Given the description of an element on the screen output the (x, y) to click on. 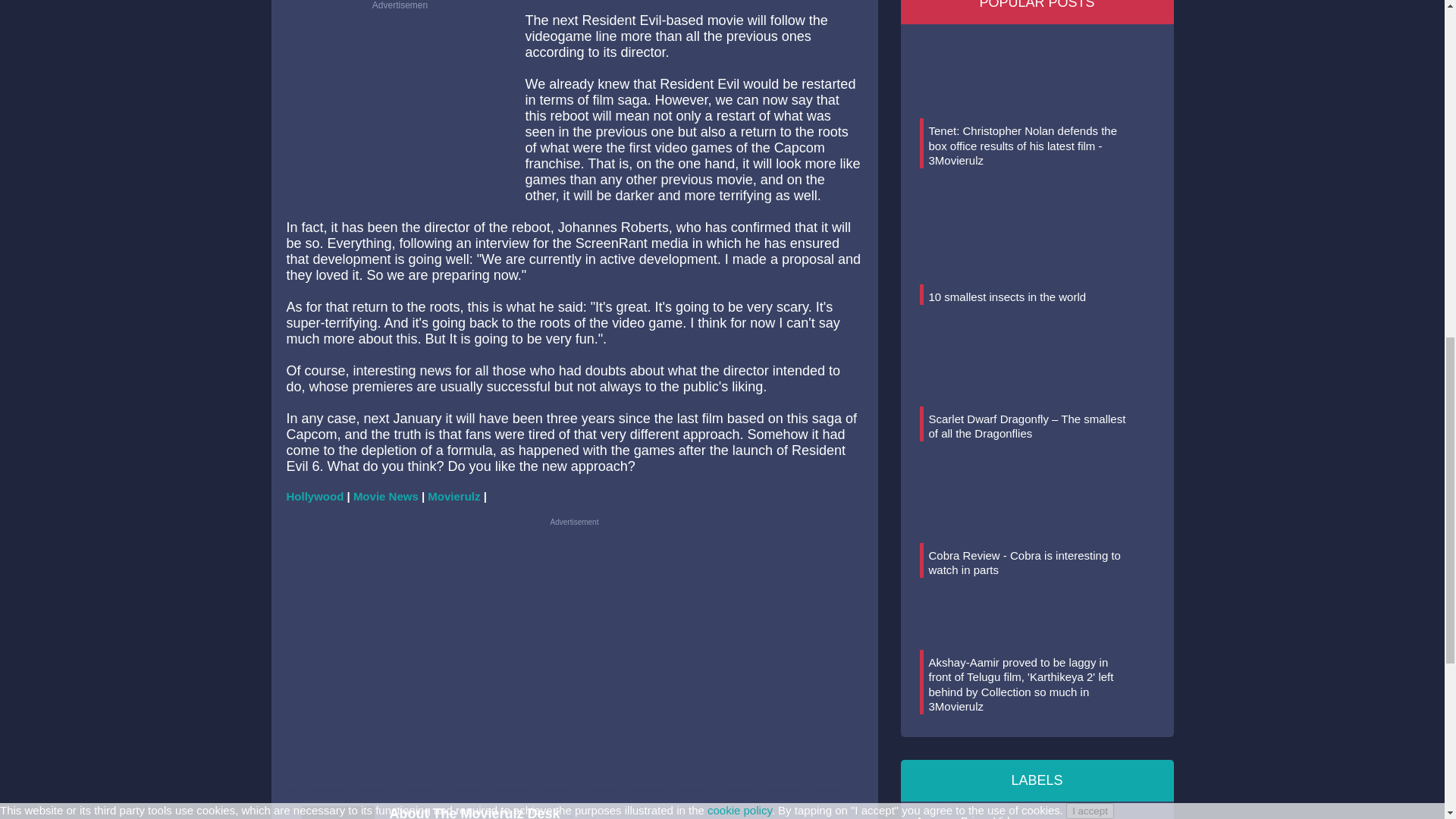
3rd party ad content (399, 108)
Hollywood (314, 495)
Movierulz (454, 495)
Amazon Prime Video (1037, 810)
Movie News (386, 495)
Cobra Review - Cobra is interesting to watch in parts (1023, 562)
10 smallest insects in the world (1007, 296)
